Given the description of an element on the screen output the (x, y) to click on. 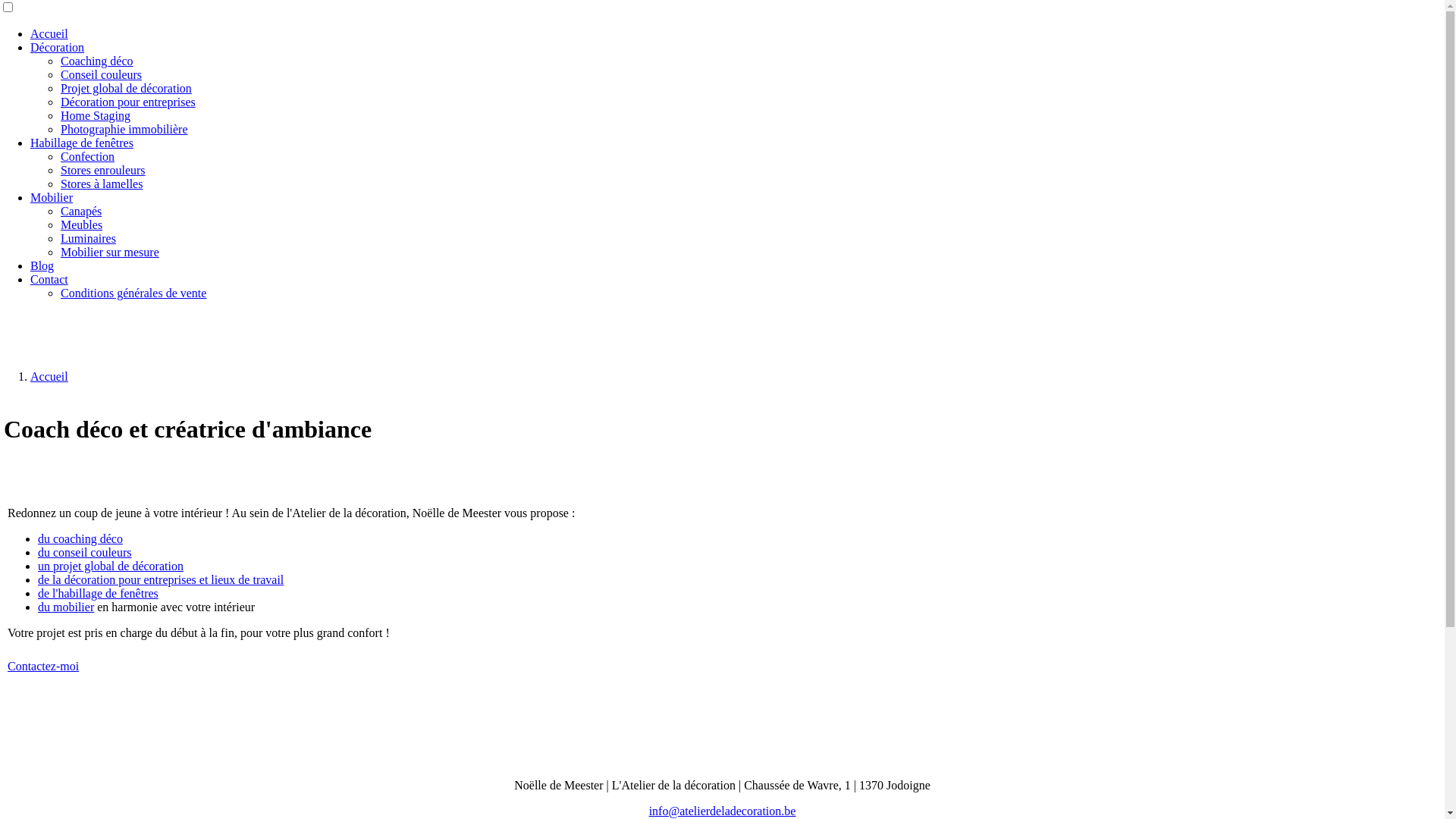
Luminaires Element type: text (88, 238)
info@atelierdeladecoration.be Element type: text (722, 810)
Meubles Element type: text (81, 224)
Accueil Element type: text (49, 33)
Blog Element type: text (41, 265)
Contactez-moi Element type: text (42, 665)
du conseil couleurs Element type: text (84, 552)
Home Staging Element type: text (95, 115)
Accueil Element type: text (49, 376)
Mobilier sur mesure Element type: text (109, 251)
Confection Element type: text (87, 156)
Contact Element type: text (49, 279)
Mobilier Element type: text (51, 197)
du mobilier Element type: text (65, 606)
Stores enrouleurs Element type: text (102, 169)
Conseil couleurs Element type: text (100, 74)
